Given the description of an element on the screen output the (x, y) to click on. 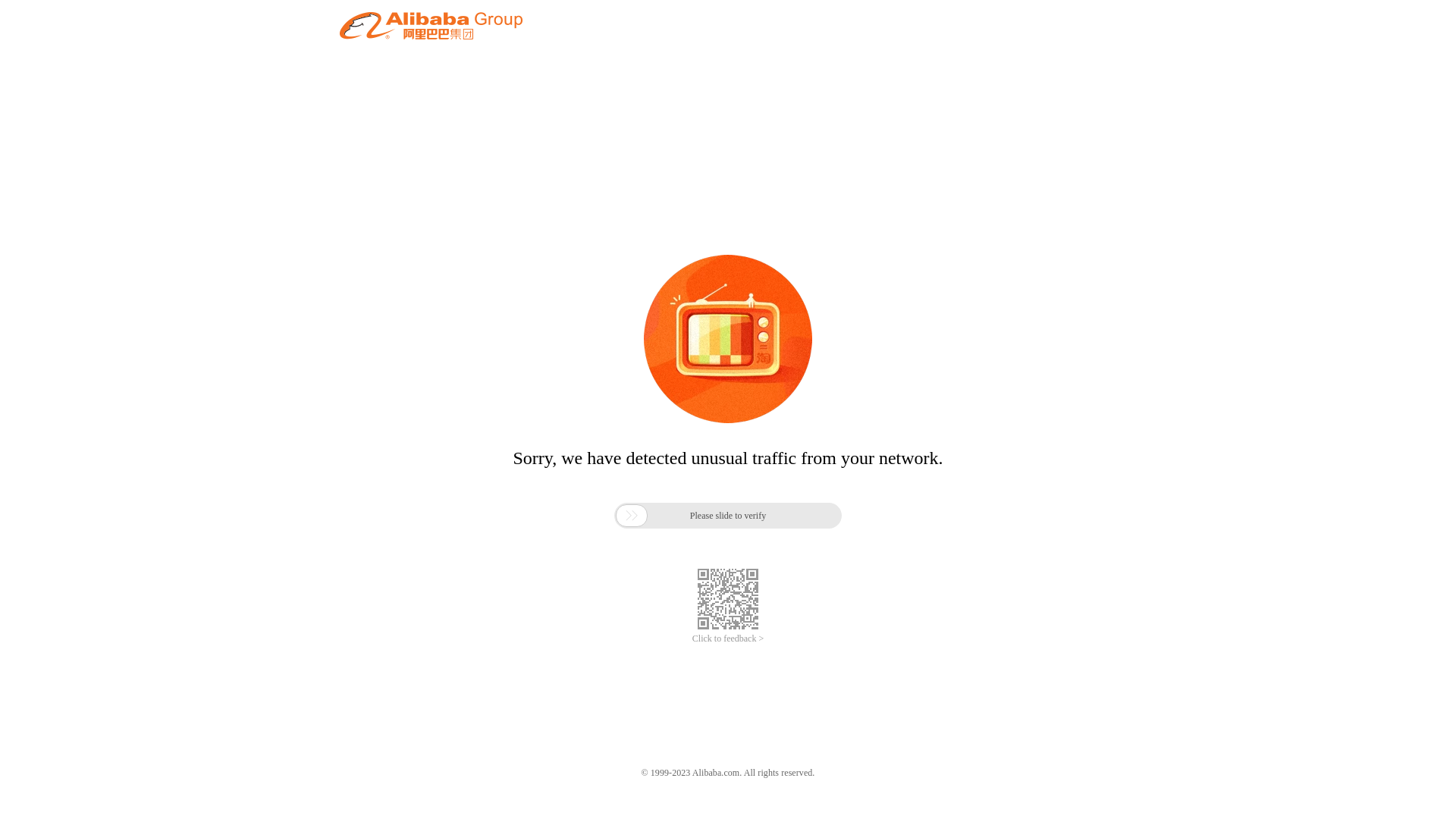
Click to feedback > Element type: text (727, 638)
